Given the description of an element on the screen output the (x, y) to click on. 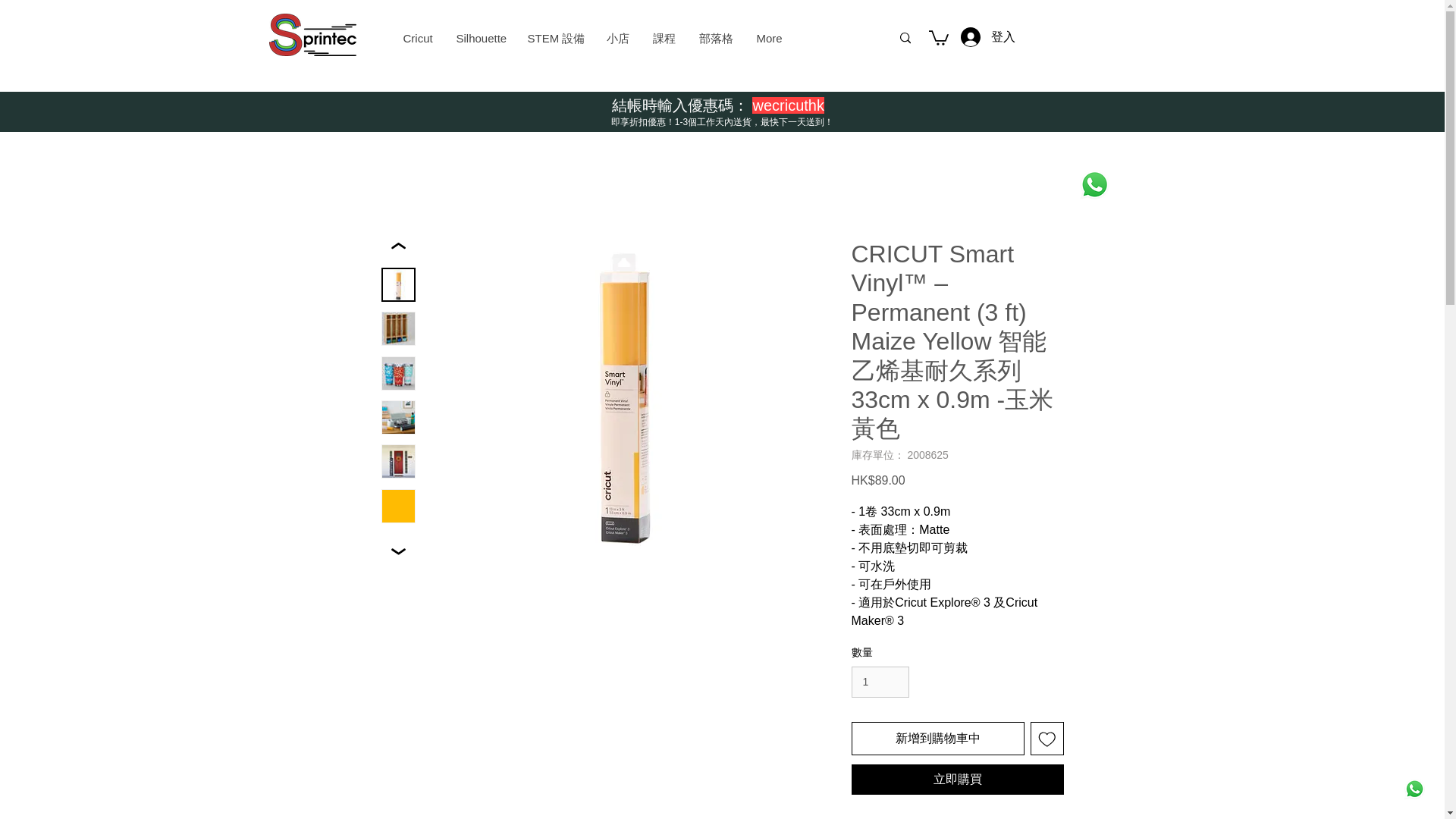
Silhouette (479, 38)
1 (879, 681)
Cricut (417, 38)
logo.jpg (311, 34)
